Given the description of an element on the screen output the (x, y) to click on. 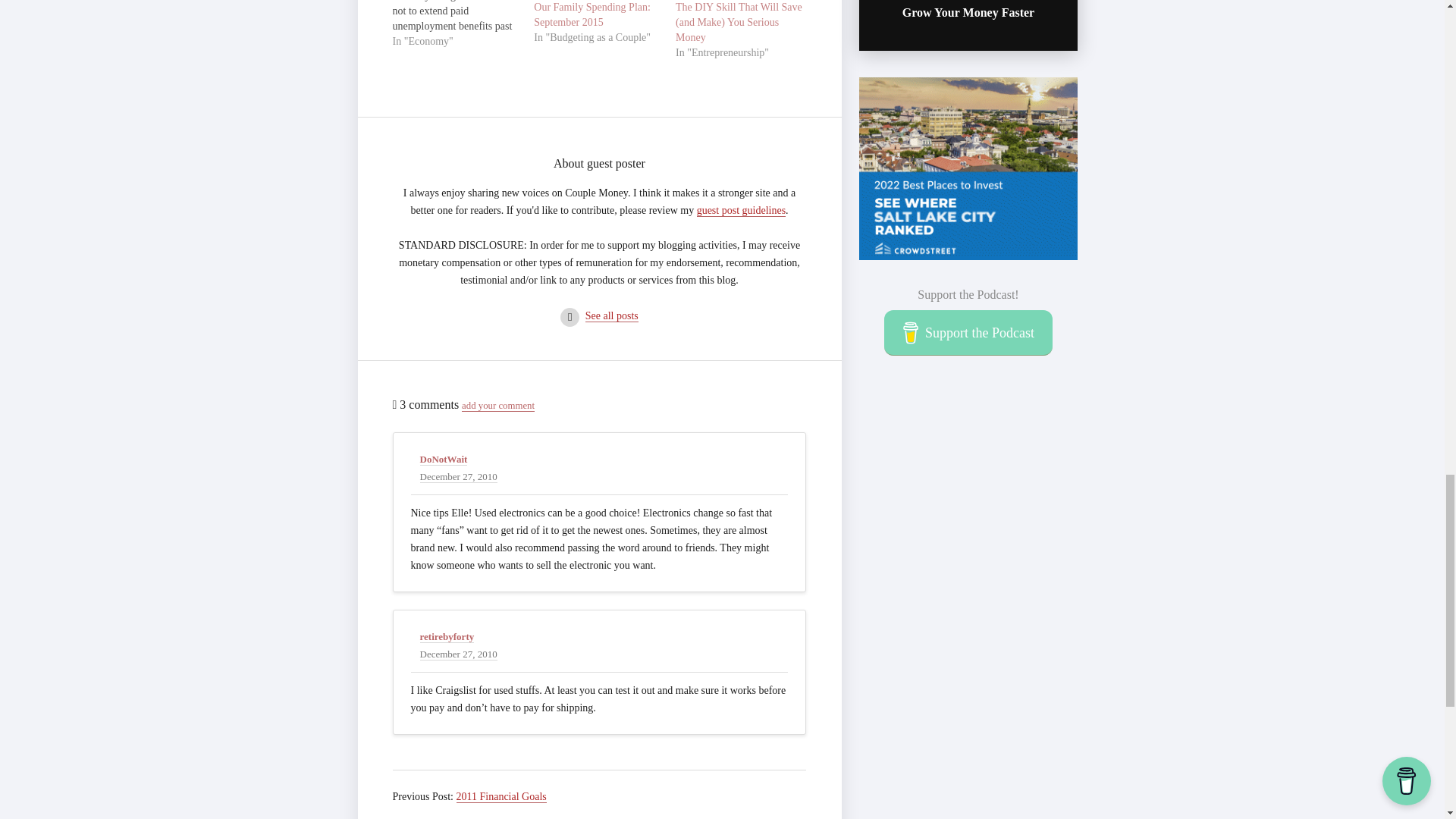
December 27, 2010 (458, 476)
retirebyforty (447, 636)
Our Family Spending Plan: September 2015 (592, 14)
DoNotWait (443, 459)
guest post guidelines (741, 210)
See all posts (612, 316)
December 27, 2010 (458, 654)
Our Family Spending Plan: September 2015 (592, 14)
add your comment (497, 405)
